Given the description of an element on the screen output the (x, y) to click on. 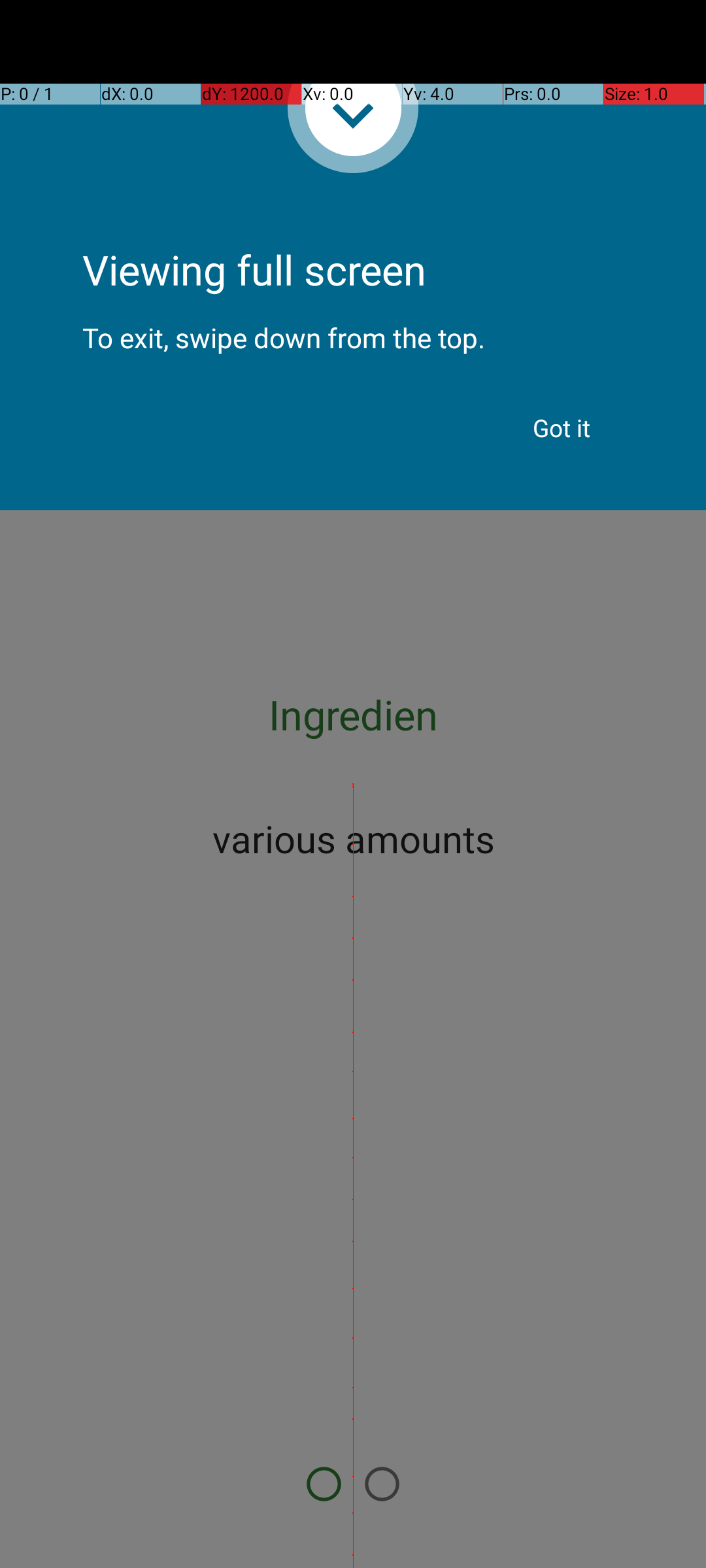
Viewing full screen Element type: android.widget.TextView (353, 235)
To exit, swipe down from the top. Element type: android.widget.TextView (353, 326)
Got it Element type: android.widget.Button (561, 427)
